Given the description of an element on the screen output the (x, y) to click on. 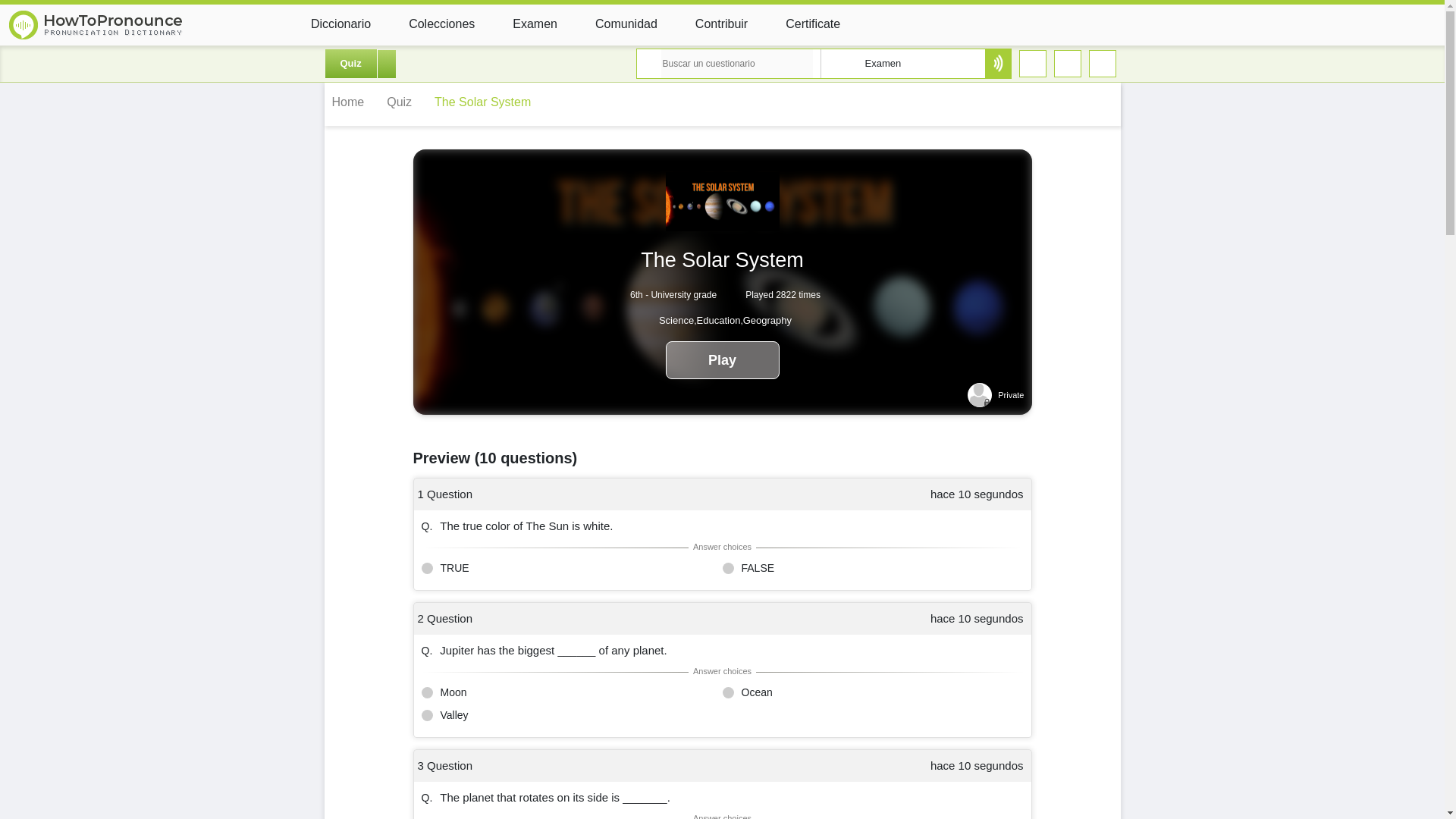
Contribuir (710, 22)
Geography (767, 320)
Colecciones (429, 22)
Play (721, 360)
The Solar System (486, 104)
Examen (834, 63)
Diccionario (329, 22)
Quiz (402, 104)
Certificate (801, 22)
Comunidad (615, 22)
Comunidad HowToPronounce (615, 22)
Examen (523, 22)
Education (719, 320)
Home (352, 104)
search-quiz (997, 63)
